Given the description of an element on the screen output the (x, y) to click on. 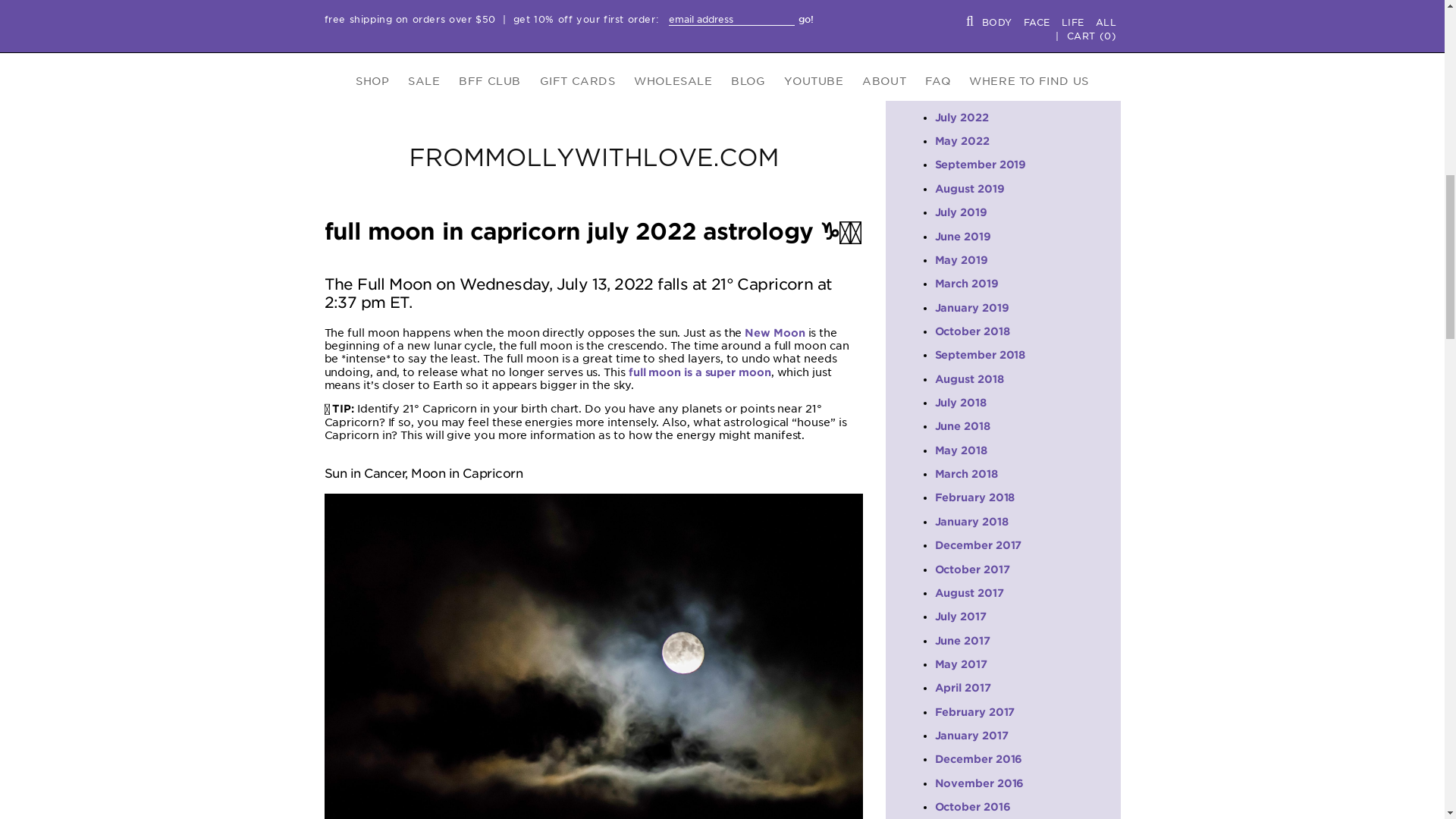
full moon is a super moon (699, 372)
New Moon (774, 331)
